Given the description of an element on the screen output the (x, y) to click on. 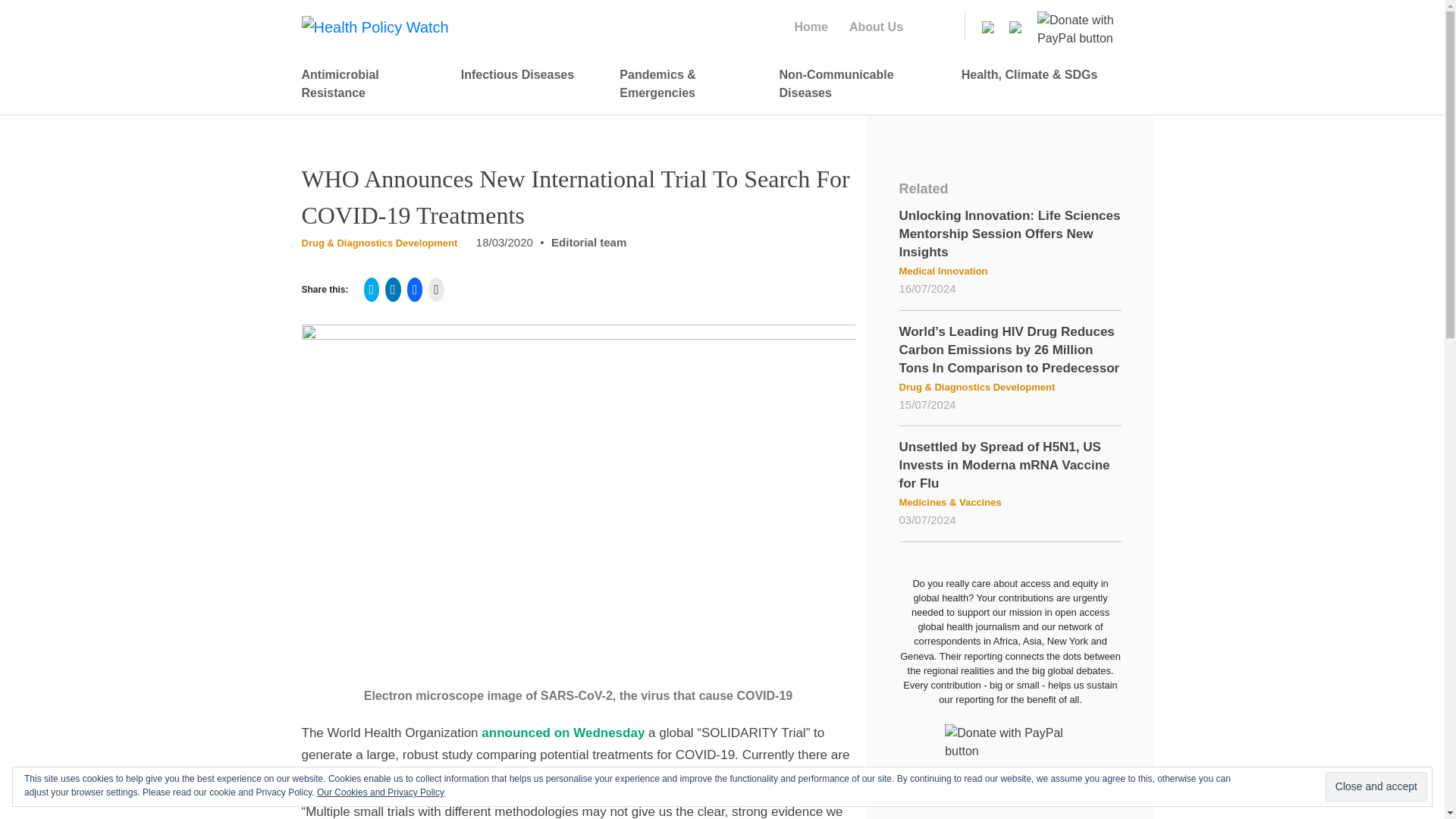
announced on Wednesday (563, 732)
PayPal - The safer, easier way to pay online! (1082, 26)
Infectious Diseases (525, 74)
Antimicrobial Resistance (365, 83)
About Us (880, 27)
Non-Communicable Diseases (854, 83)
Posts by Editorial team (588, 241)
About Us (880, 27)
Infectious Diseases (525, 74)
Non-Communicable Diseases (854, 83)
Editorial team (588, 241)
Antimicrobial Resistance (365, 83)
Home (815, 27)
Search (25, 11)
Close and accept (1375, 786)
